Given the description of an element on the screen output the (x, y) to click on. 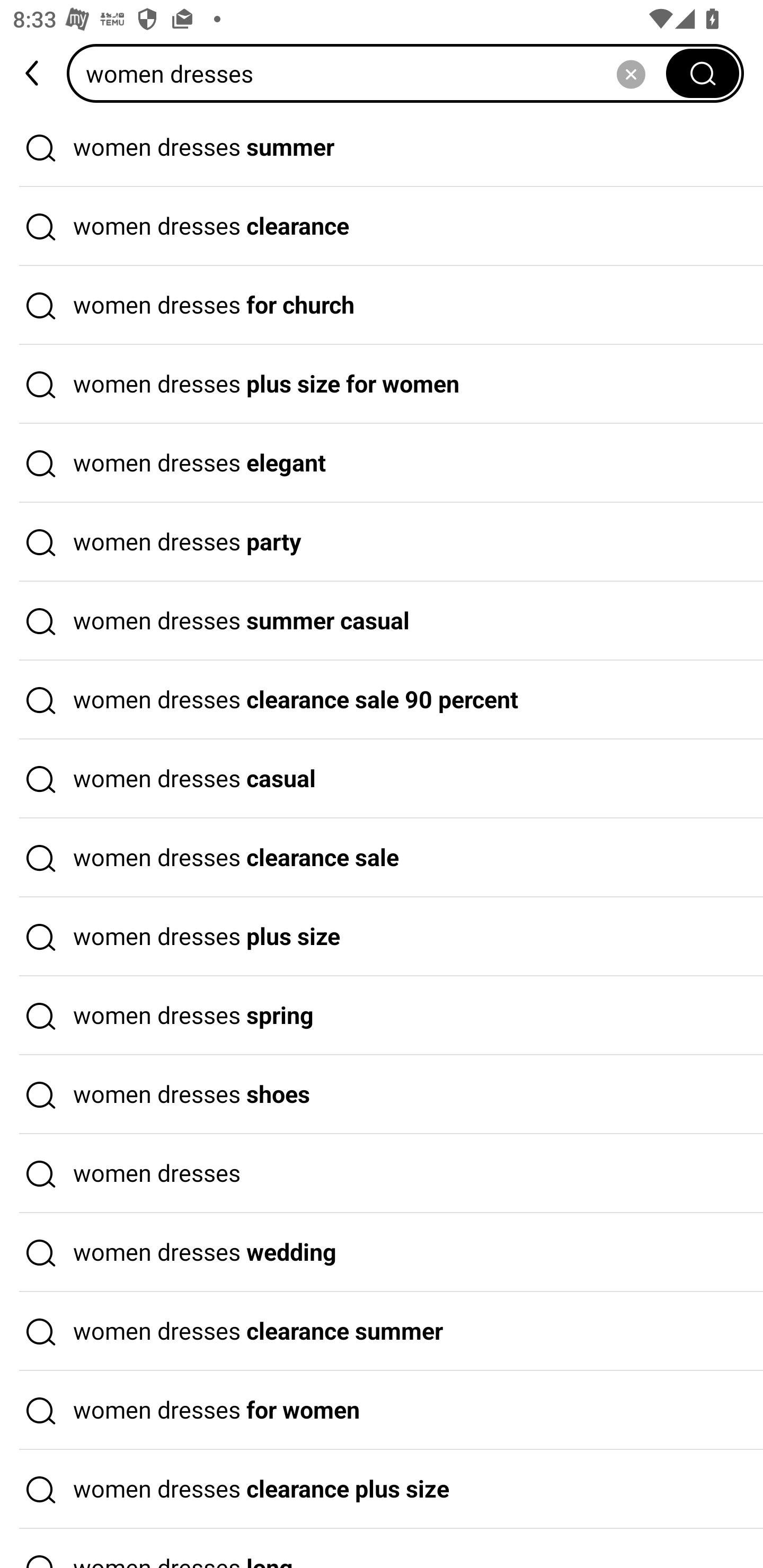
back (33, 72)
women dresses (372, 73)
Delete search history (630, 73)
women dresses summer (381, 147)
women dresses clearance (381, 226)
women dresses for church (381, 305)
women dresses plus size for women (381, 383)
women dresses elegant (381, 463)
women dresses party (381, 542)
women dresses summer casual (381, 620)
women dresses clearance sale 90 percent (381, 700)
women dresses casual (381, 779)
women dresses clearance sale (381, 857)
women dresses plus size (381, 936)
women dresses spring (381, 1015)
women dresses shoes (381, 1094)
women dresses (381, 1173)
women dresses wedding (381, 1252)
women dresses clearance summer (381, 1331)
women dresses for women (381, 1410)
women dresses clearance plus size (381, 1489)
